Given the description of an element on the screen output the (x, y) to click on. 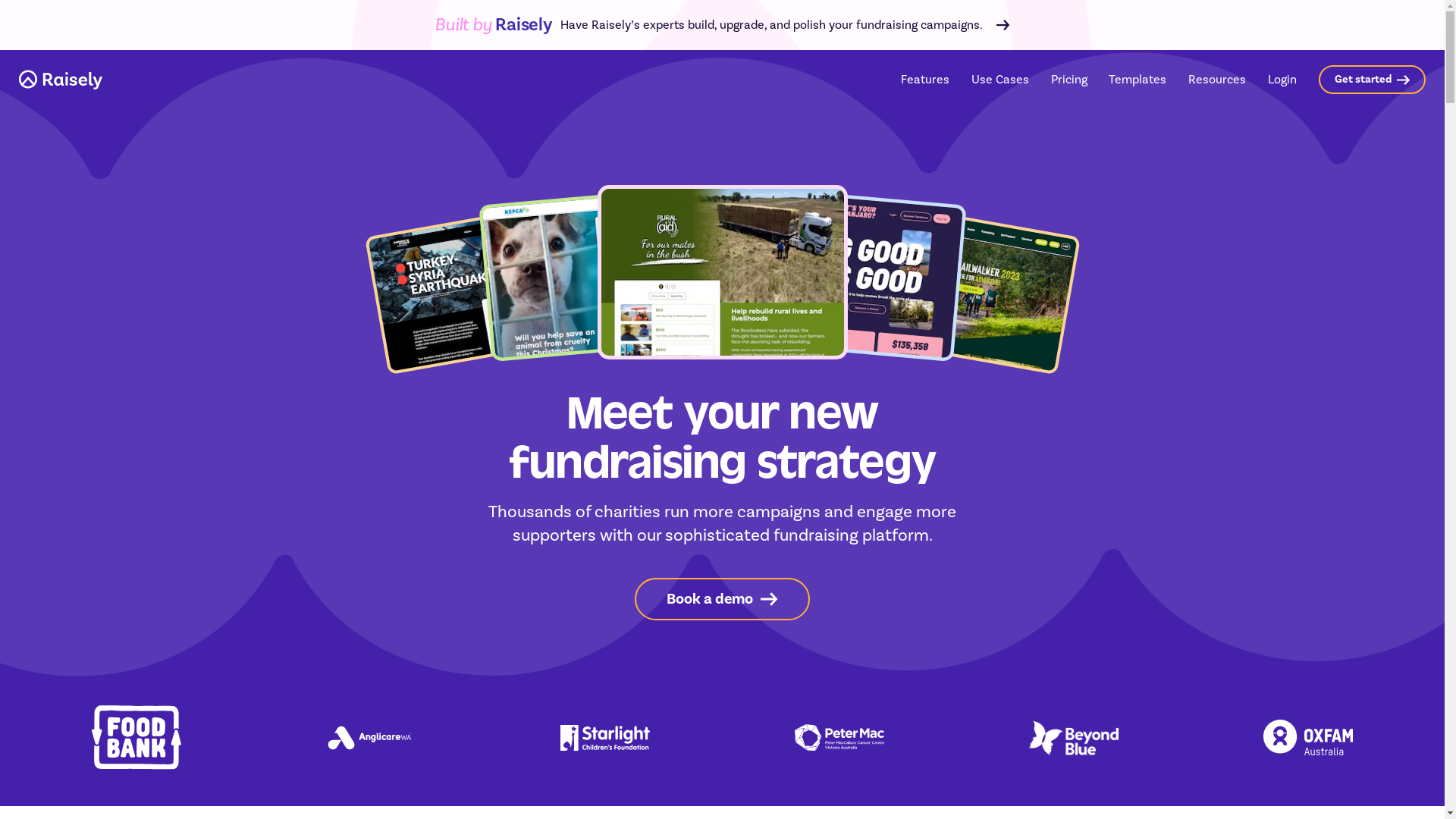
Features Element type: text (924, 79)
Use Cases Element type: text (1000, 79)
Resources Element type: text (1216, 79)
Pricing Element type: text (1069, 79)
Templates Element type: text (1137, 79)
Book a demo Element type: text (721, 598)
Login Element type: text (1281, 79)
Get started Element type: text (1371, 79)
